Given the description of an element on the screen output the (x, y) to click on. 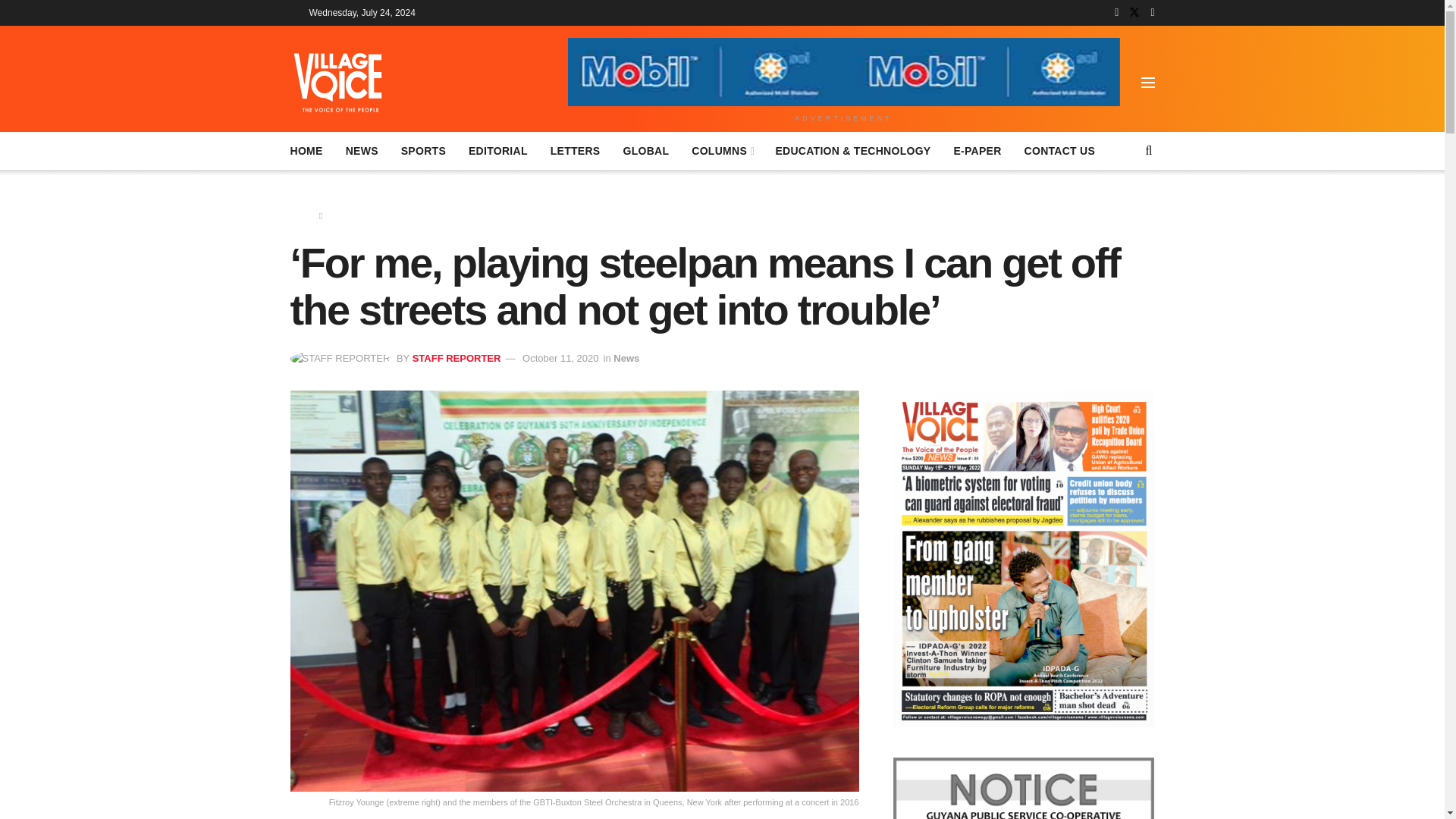
EDITORIAL (497, 150)
LETTERS (574, 150)
HOME (305, 150)
E-PAPER (977, 150)
SPORTS (423, 150)
COLUMNS (721, 150)
CONTACT US (1060, 150)
NEWS (362, 150)
GLOBAL (645, 150)
